Given the description of an element on the screen output the (x, y) to click on. 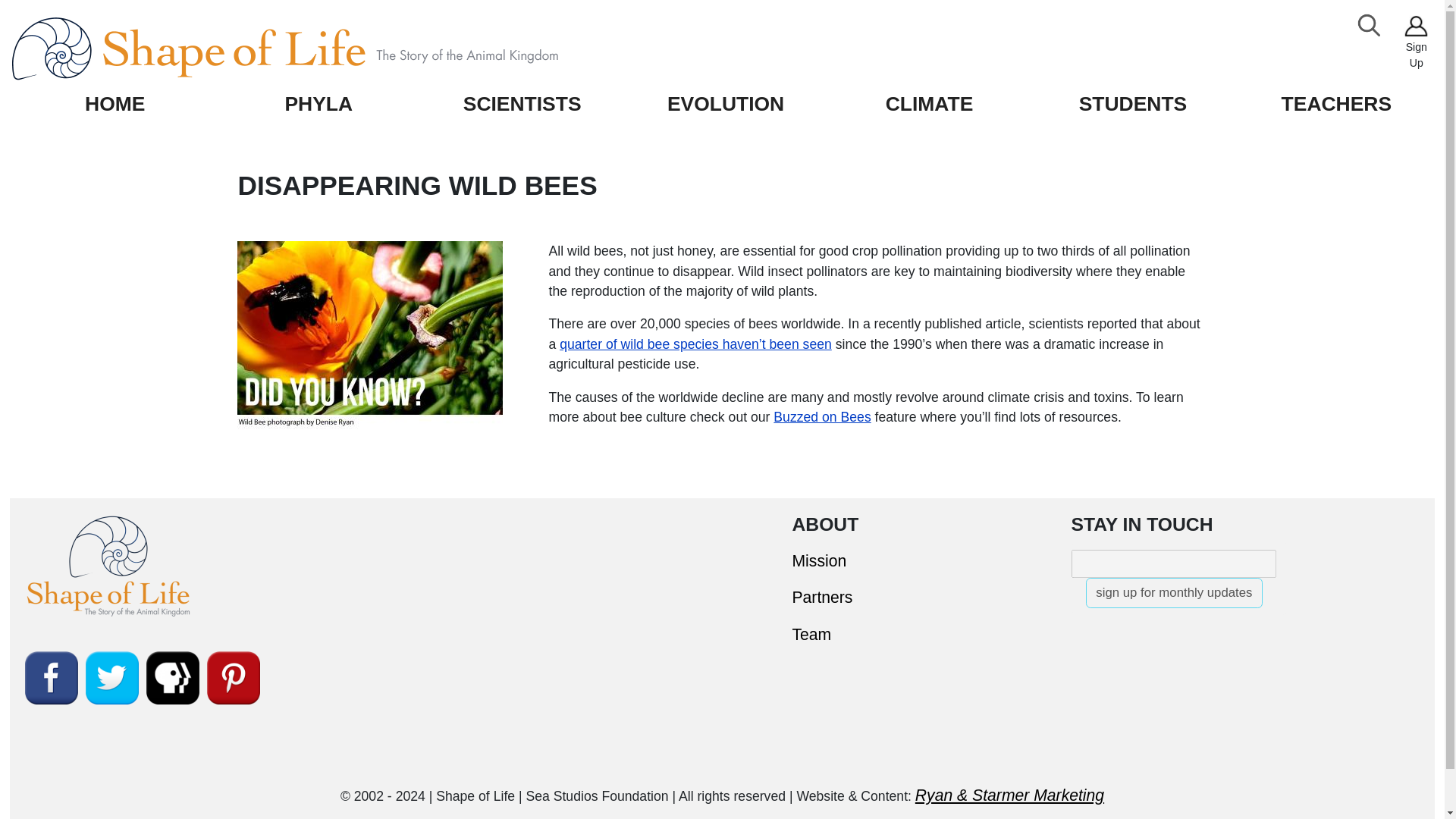
Skip to main content (66, 11)
Search (1369, 26)
sign up for monthly updates (1174, 593)
Home (319, 48)
